Given the description of an element on the screen output the (x, y) to click on. 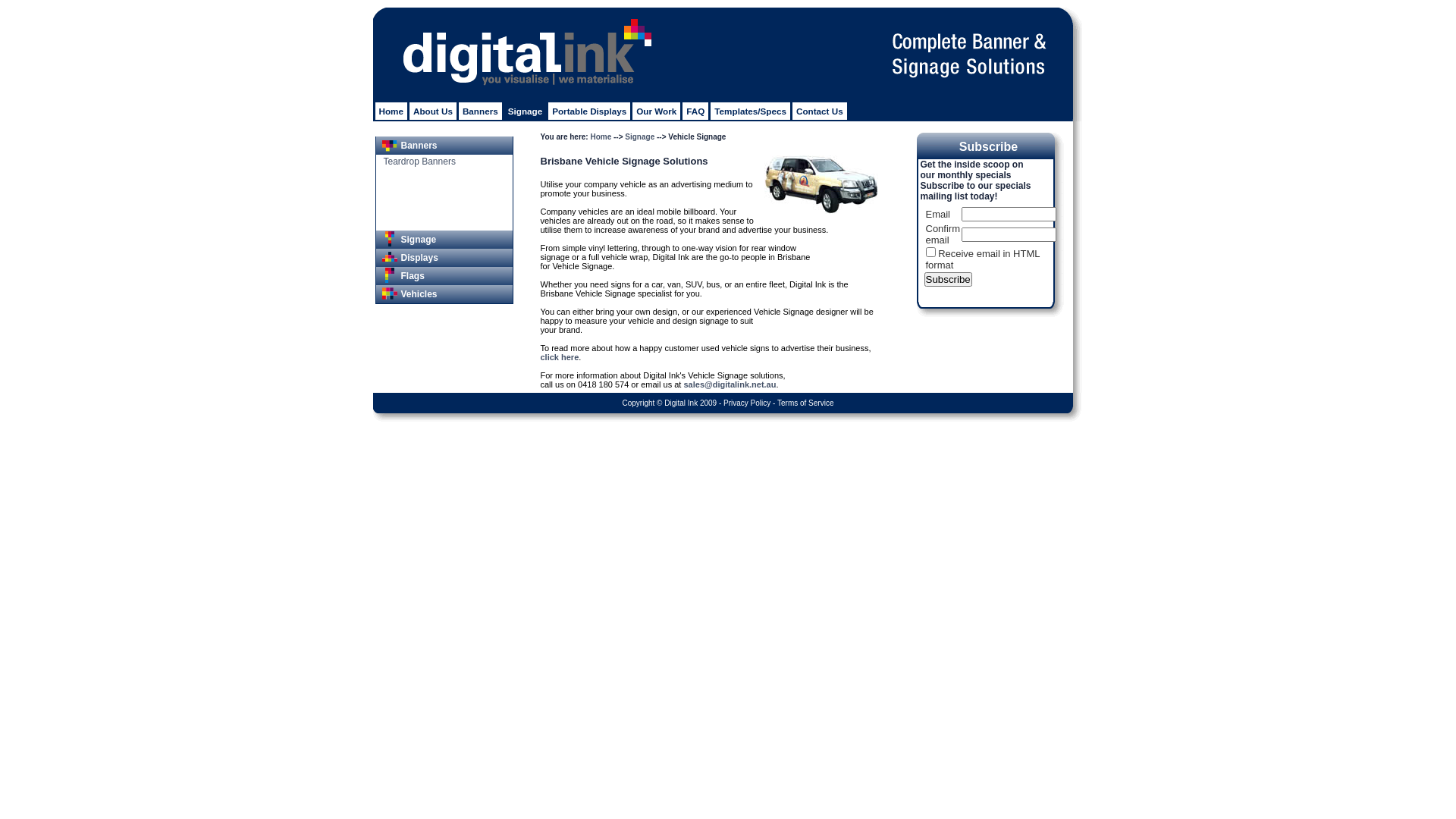
Vehicles Element type: text (444, 294)
Signage Element type: text (444, 239)
Our Work Element type: text (656, 110)
click here Element type: text (558, 356)
Teardrop Banners Element type: text (417, 161)
FAQ Element type: text (695, 110)
Subscribe Element type: text (947, 279)
Home Element type: text (390, 110)
Templates/Specs Element type: text (750, 110)
Contact Us Element type: text (819, 110)
sales@digitalink.net.au Element type: text (729, 384)
Flags Element type: text (444, 275)
Banners Element type: text (480, 110)
Displays Element type: text (444, 257)
Home Element type: text (600, 136)
About Us Element type: text (432, 110)
Banners Element type: text (444, 145)
Portable Displays Element type: text (589, 110)
Signage Element type: text (525, 110)
Signage Element type: text (639, 136)
